Given the description of an element on the screen output the (x, y) to click on. 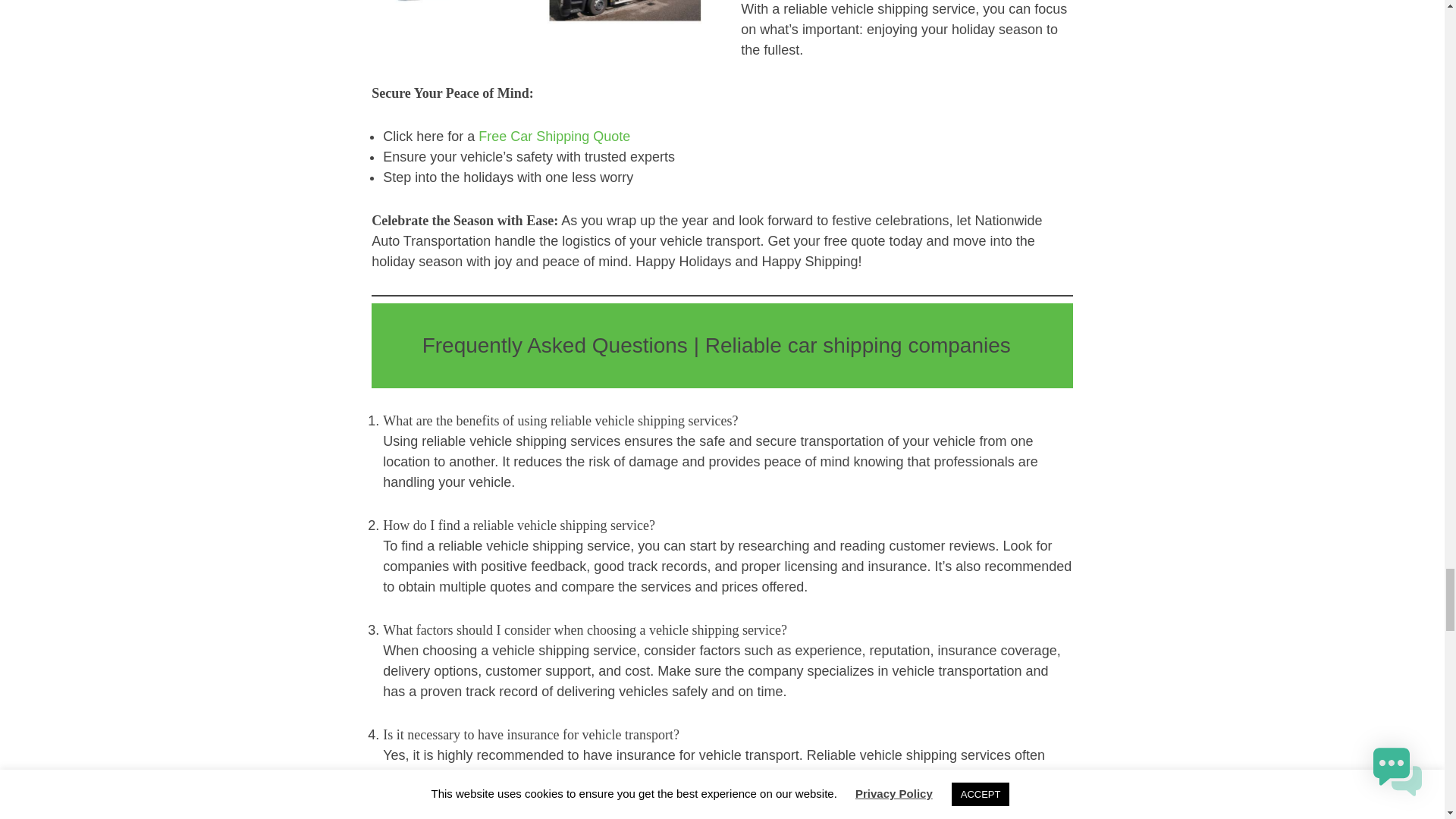
Free Car Shipping Quote (554, 136)
